Given the description of an element on the screen output the (x, y) to click on. 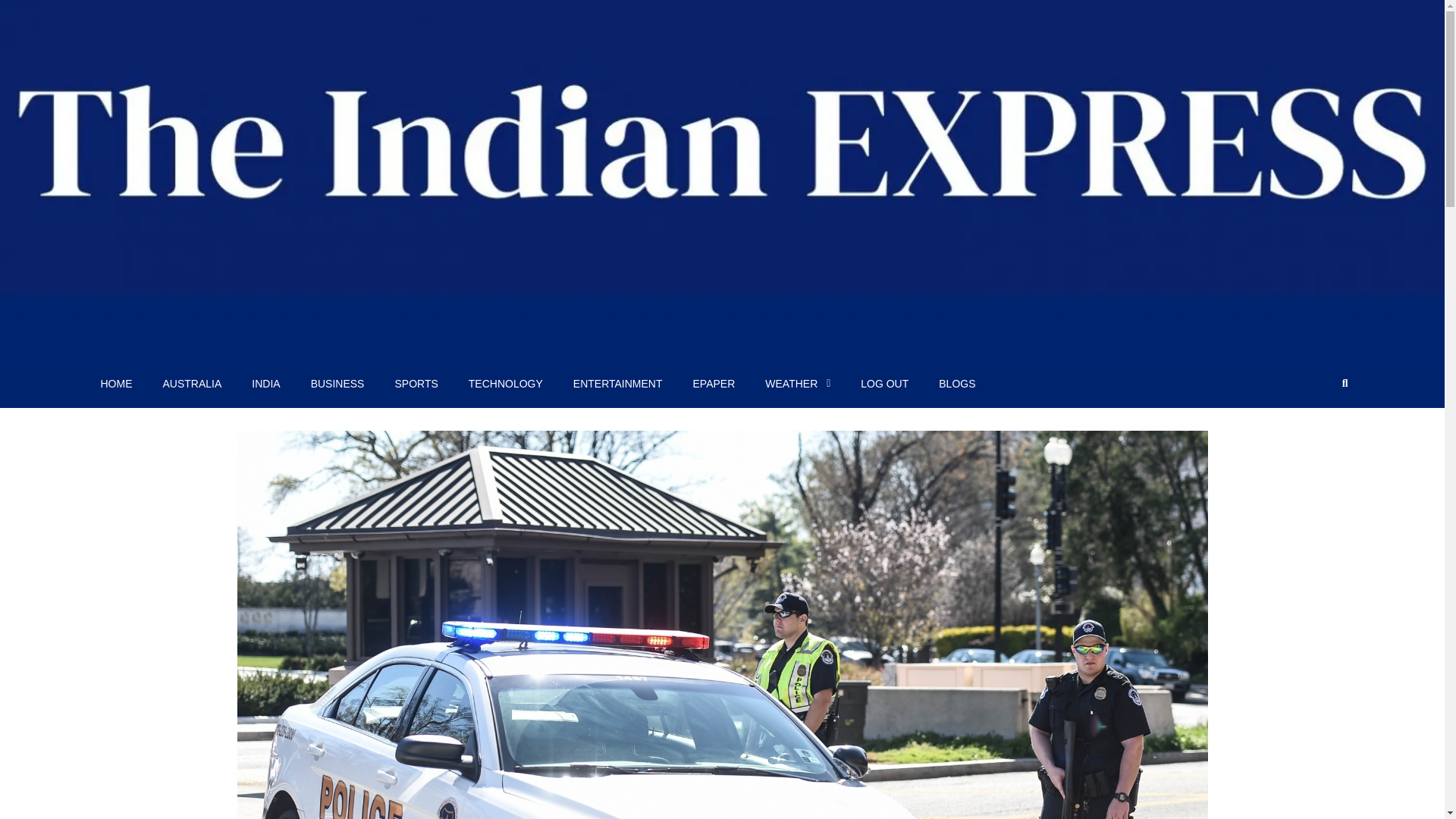
WEATHER (797, 383)
BLOGS (956, 383)
HOME (115, 383)
SPORTS (415, 383)
AUSTRALIA (191, 383)
LOG OUT (884, 383)
TECHNOLOGY (504, 383)
INDIA (265, 383)
ENTERTAINMENT (617, 383)
EPAPER (714, 383)
The Indian Express (186, 343)
BUSINESS (337, 383)
